Given the description of an element on the screen output the (x, y) to click on. 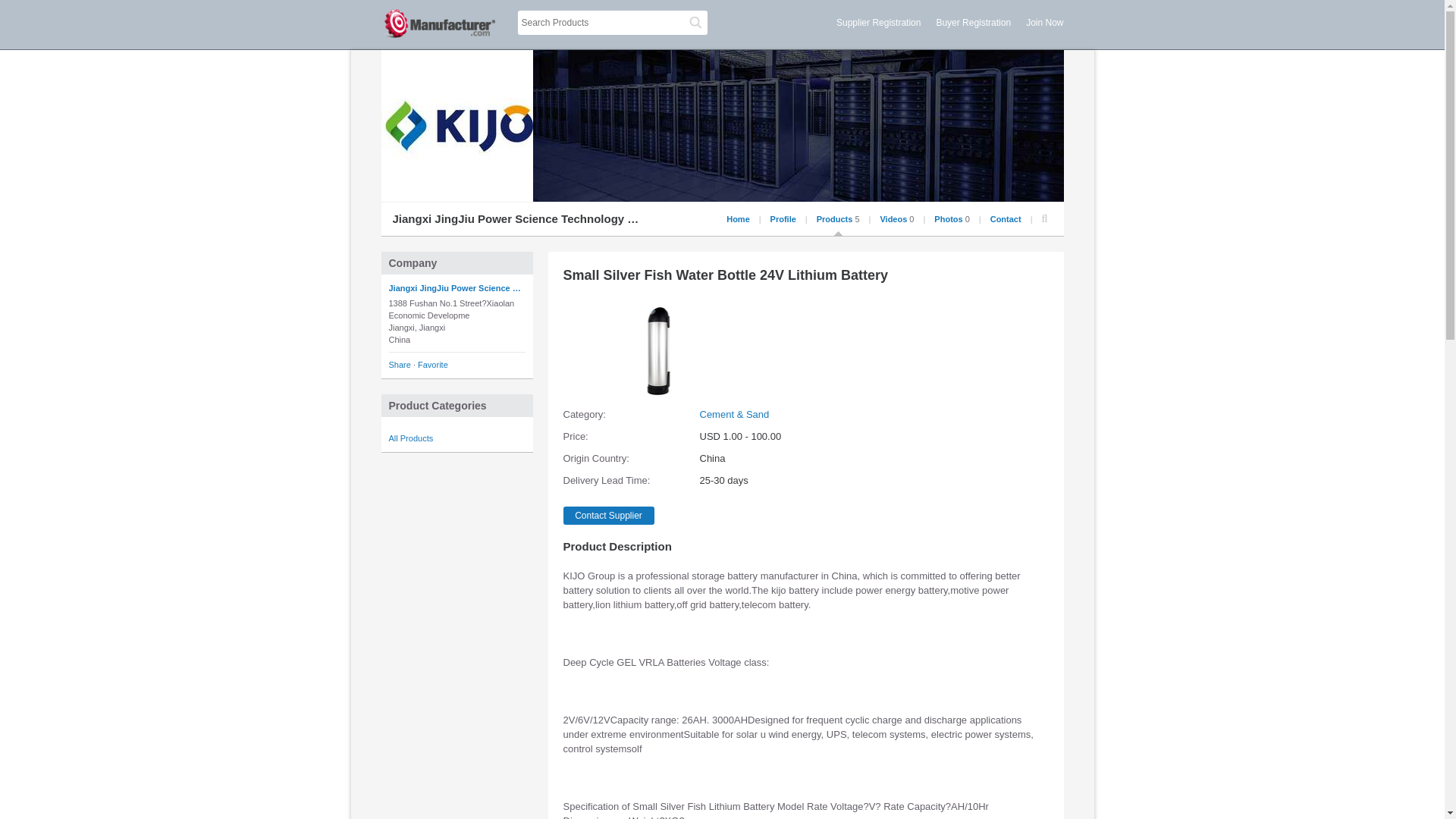
All Products (410, 438)
Search (694, 22)
Contact (1006, 218)
Products (834, 218)
Products (834, 218)
Contact (1006, 218)
Favorite (432, 364)
Buyer Registration (973, 22)
Contact Supplier (607, 515)
Contact Supplier (607, 515)
